Given the description of an element on the screen output the (x, y) to click on. 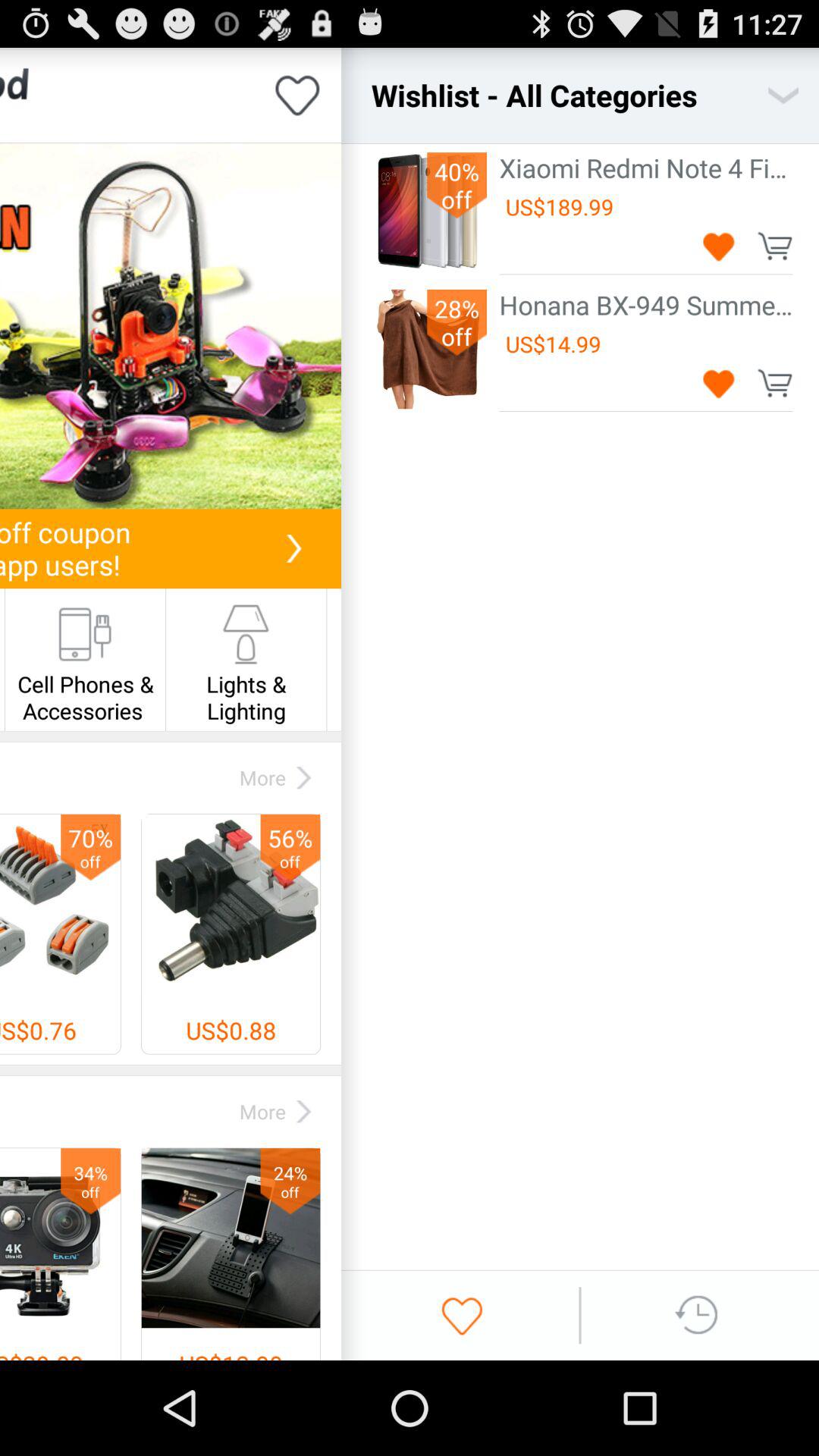
favorites (461, 1315)
